Given the description of an element on the screen output the (x, y) to click on. 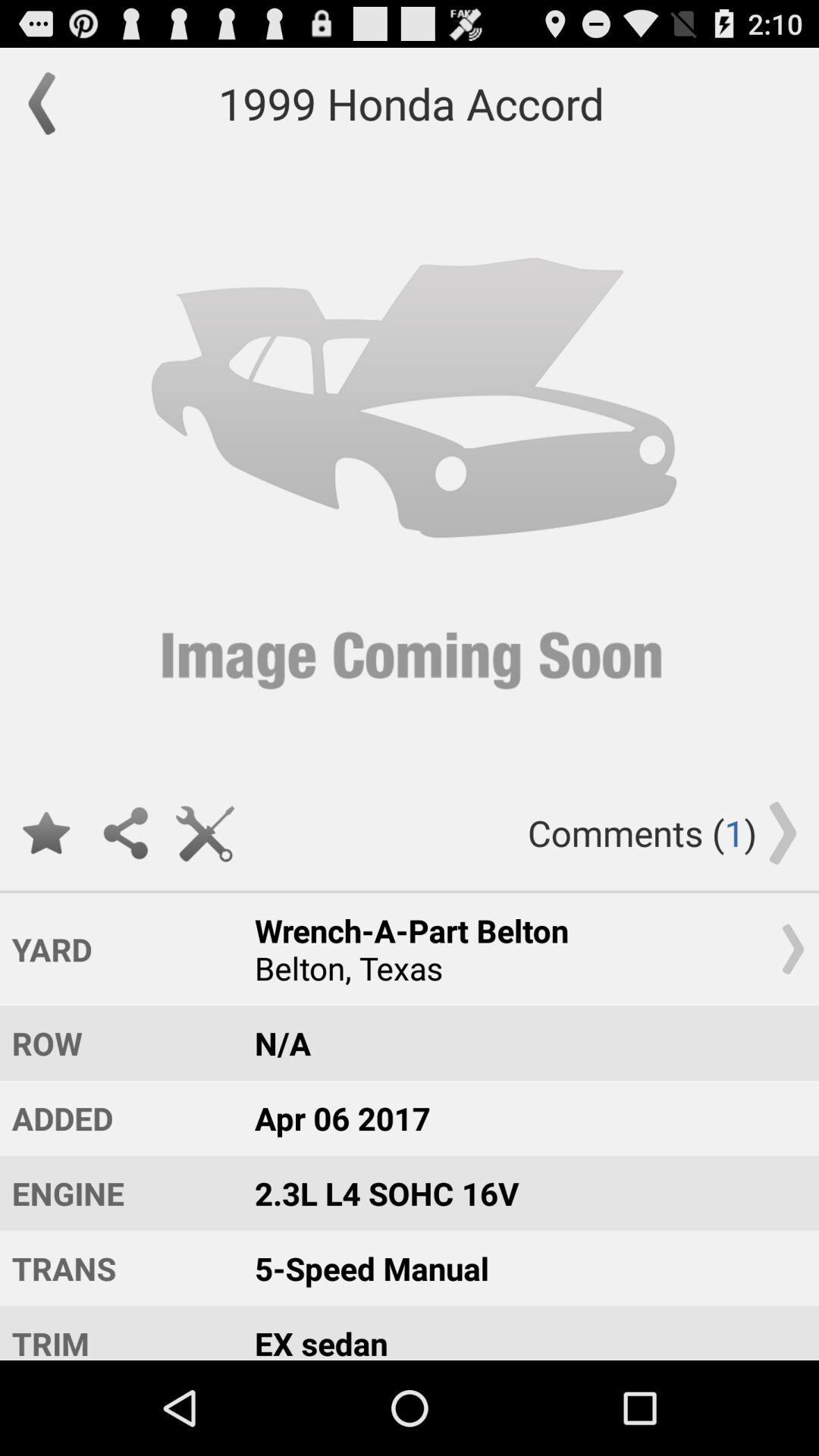
choose the wrench a part (522, 948)
